Given the description of an element on the screen output the (x, y) to click on. 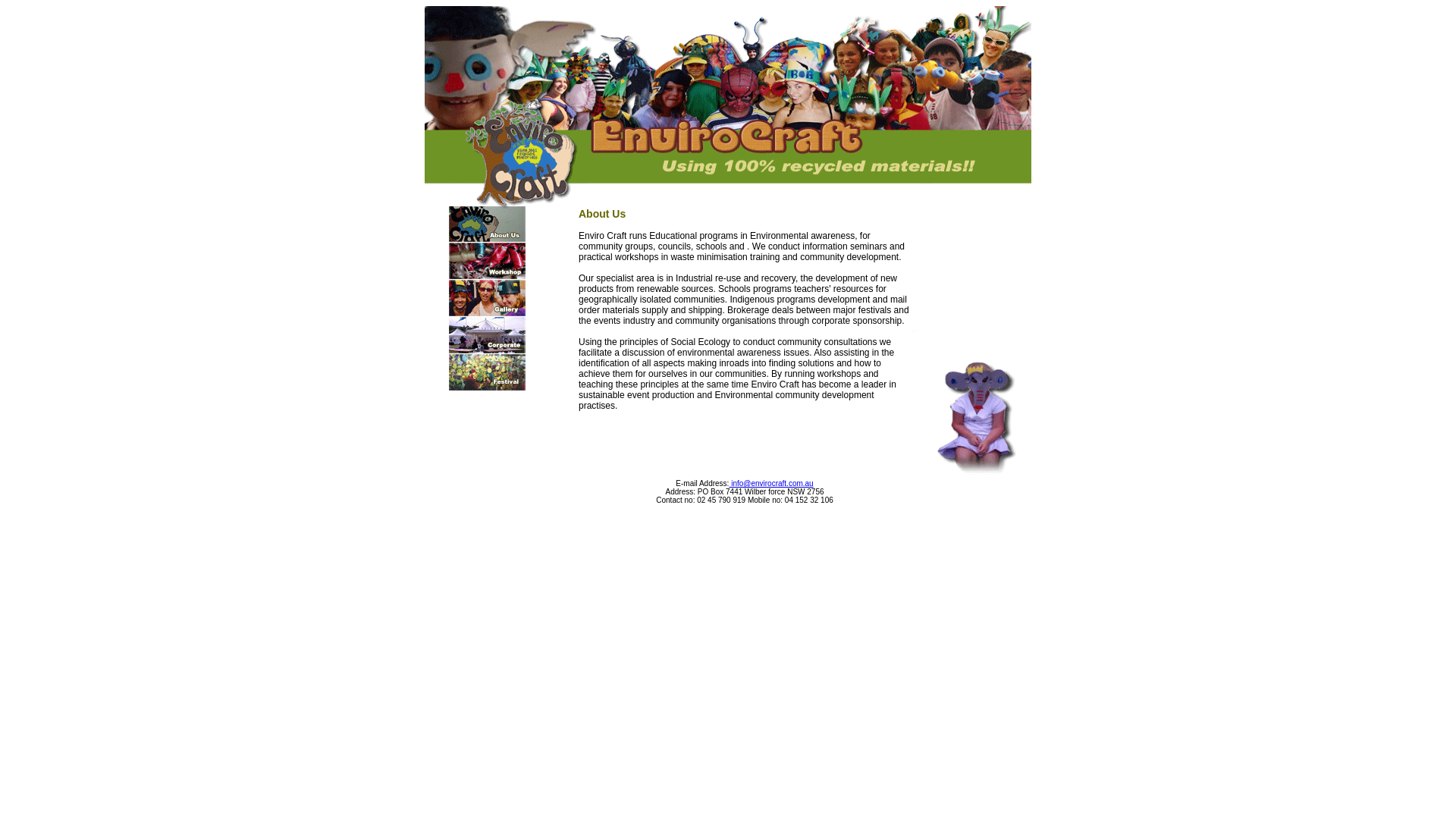
info@envirocraft.com.au Element type: text (770, 483)
